Given the description of an element on the screen output the (x, y) to click on. 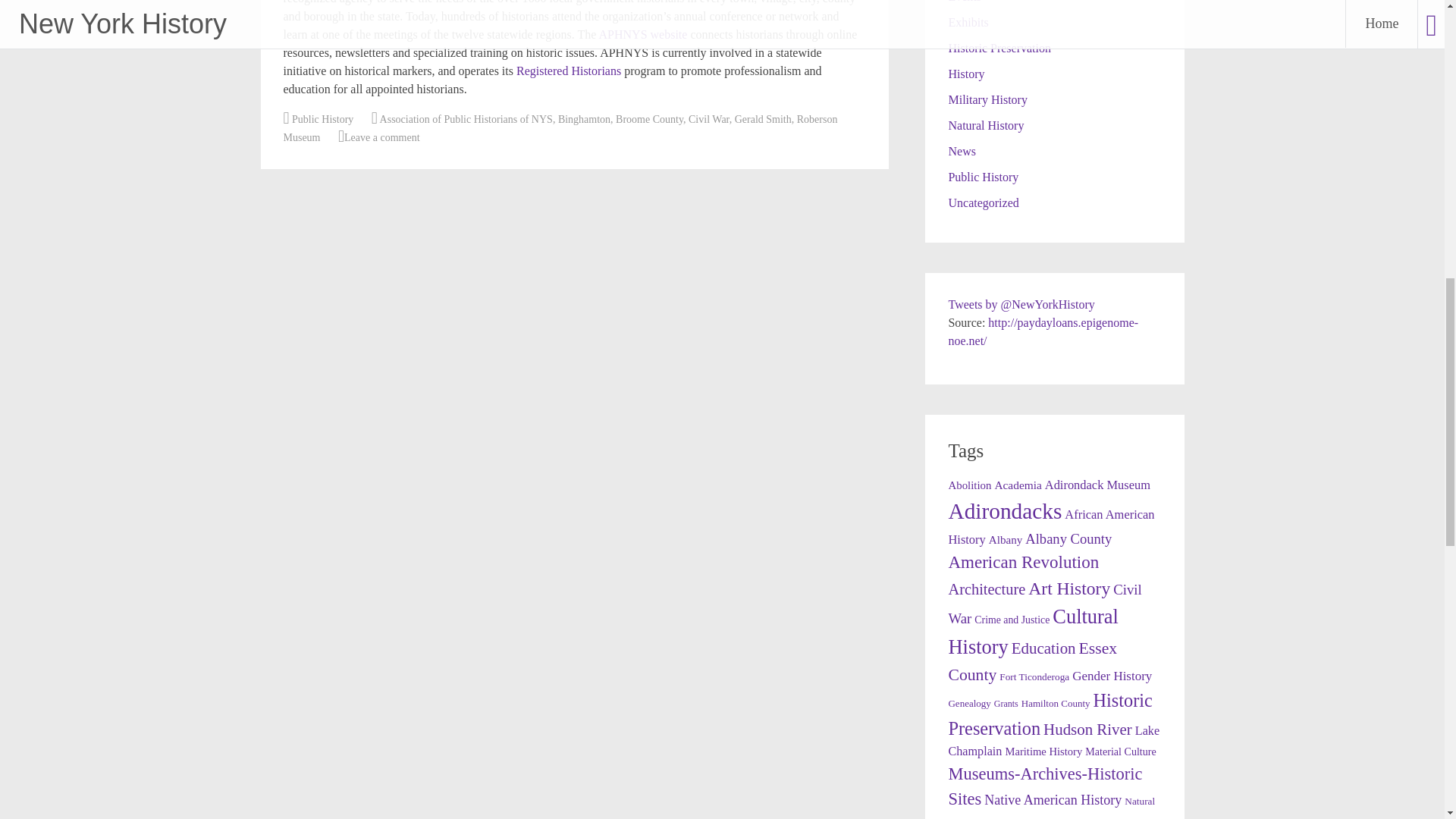
Events (964, 1)
Leave a comment (381, 137)
Historic Preservation (999, 47)
News (961, 151)
Exhibits (967, 21)
Registered Historians (568, 70)
Association of Public Historians of NYS (466, 119)
Gerald Smith (763, 119)
Uncategorized (982, 202)
Binghamton (583, 119)
Public History (982, 176)
APHNYS website (642, 33)
History (965, 73)
Broome County (648, 119)
Public History (322, 119)
